Given the description of an element on the screen output the (x, y) to click on. 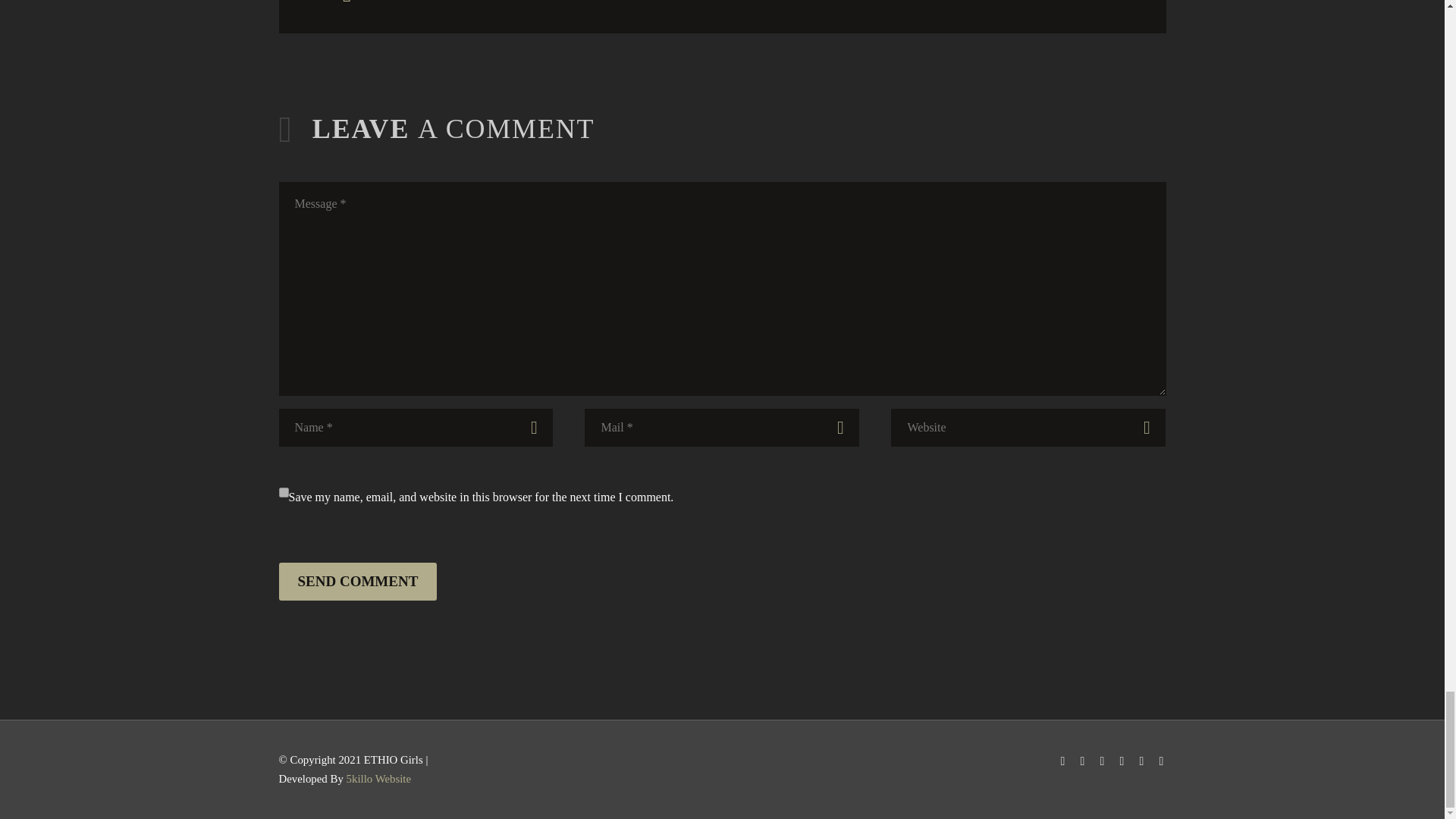
5killo Website (379, 778)
SEND COMMENT (358, 581)
yes (283, 492)
